Given the description of an element on the screen output the (x, y) to click on. 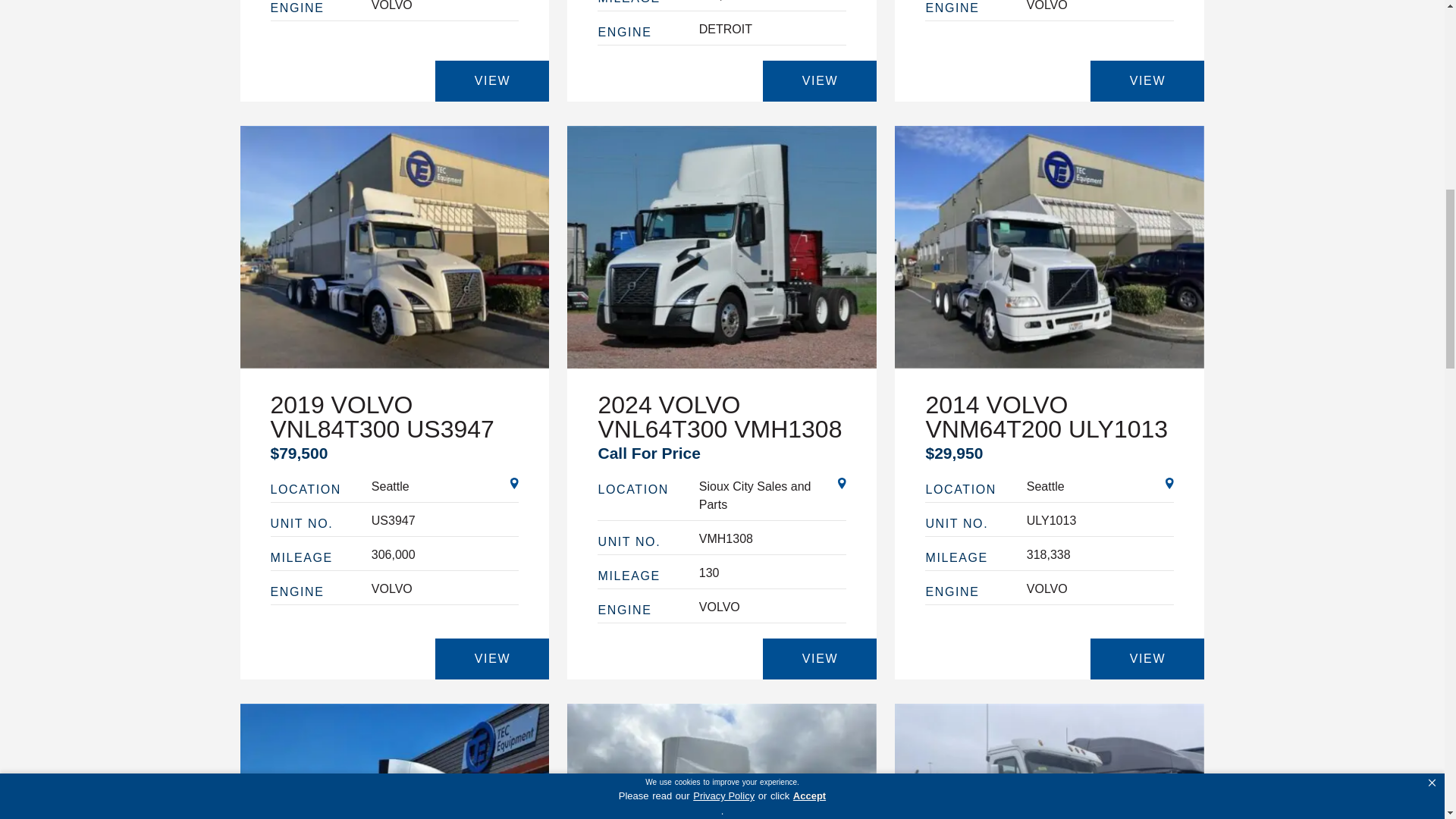
Seattle (445, 486)
VIEW (491, 658)
VIEW (1147, 80)
VIEW (491, 80)
VIEW (819, 658)
Sioux City Sales and Parts (772, 495)
VIEW (819, 80)
Seattle (1100, 486)
VIEW (1147, 658)
